Given the description of an element on the screen output the (x, y) to click on. 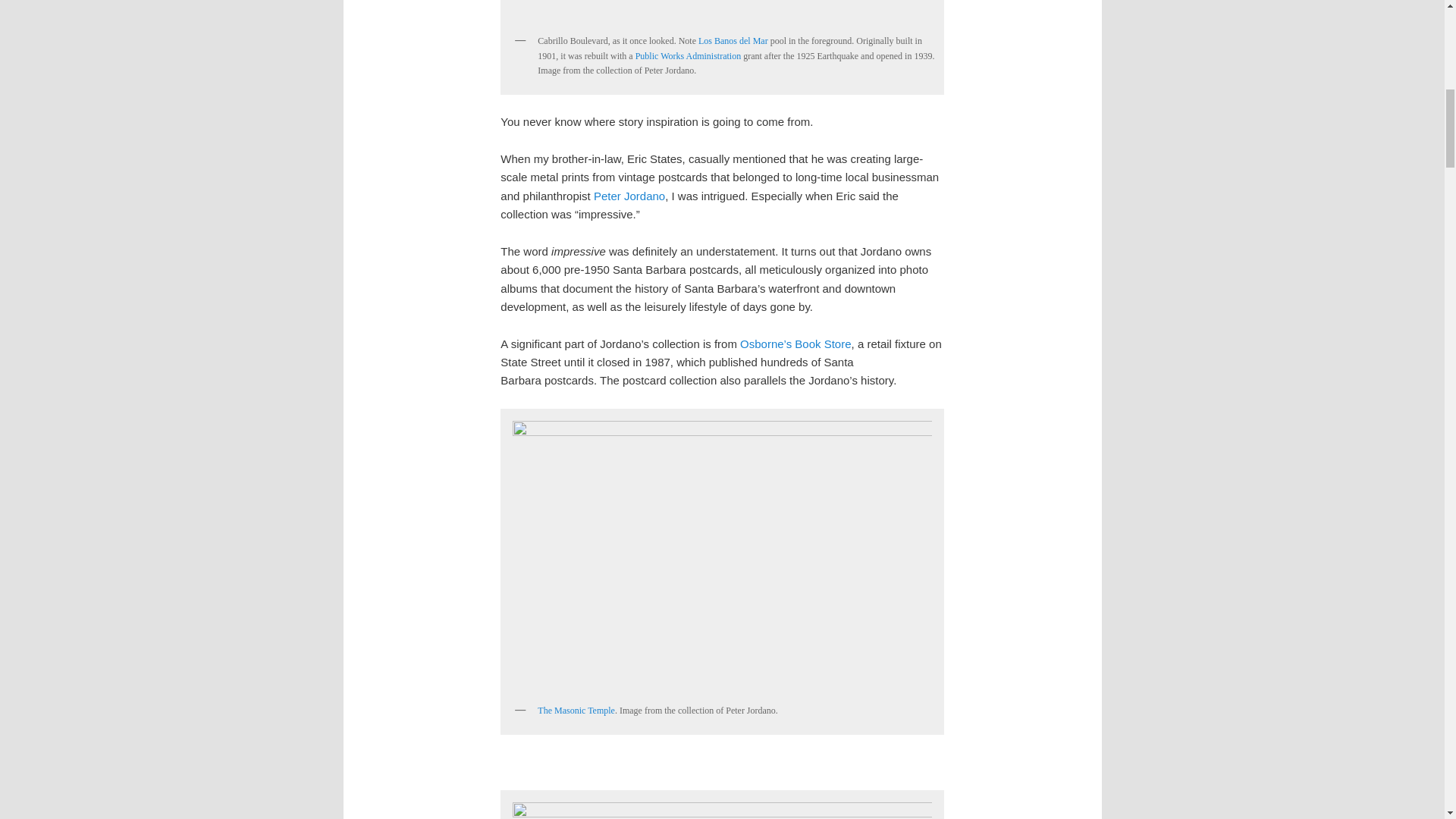
The Masonic Temple (575, 710)
Public Works Administration (687, 55)
Los Banos del Mar (733, 40)
Peter Jordano (629, 195)
